Given the description of an element on the screen output the (x, y) to click on. 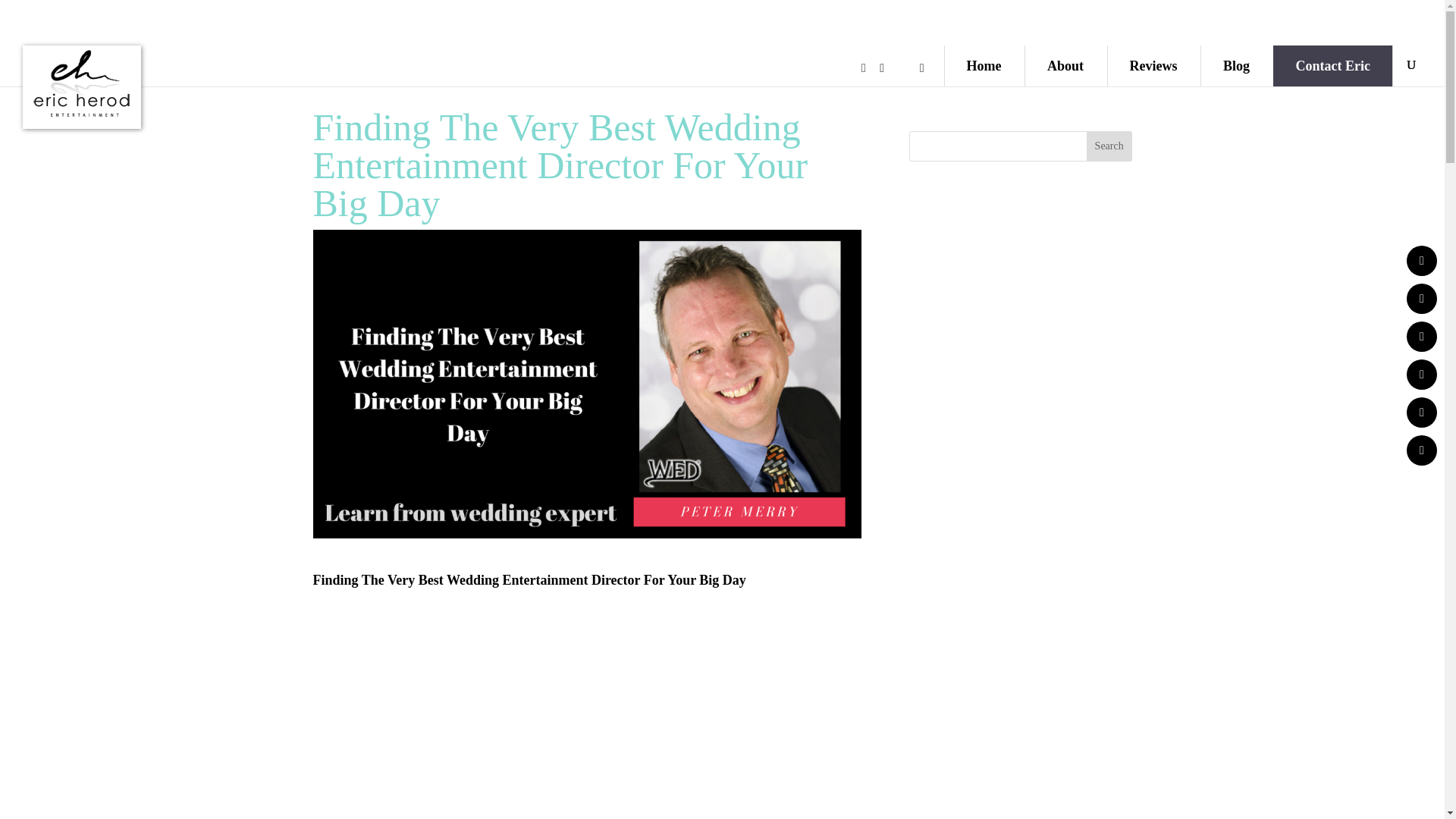
About (1065, 65)
Search (1109, 146)
Search (1109, 146)
Home (984, 65)
Contact Eric (1332, 65)
Blog (1235, 65)
Reviews (1152, 65)
